Given the description of an element on the screen output the (x, y) to click on. 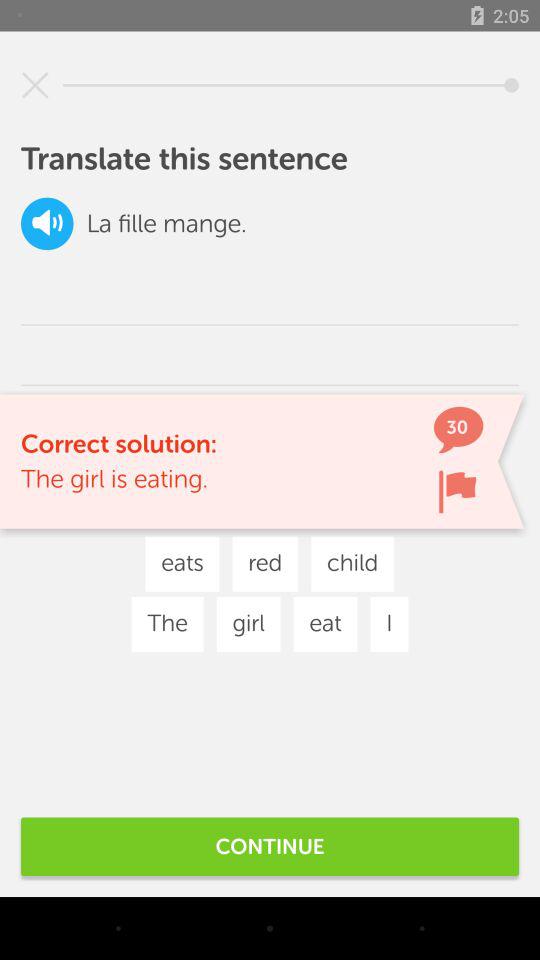
chimp (457, 491)
